Given the description of an element on the screen output the (x, y) to click on. 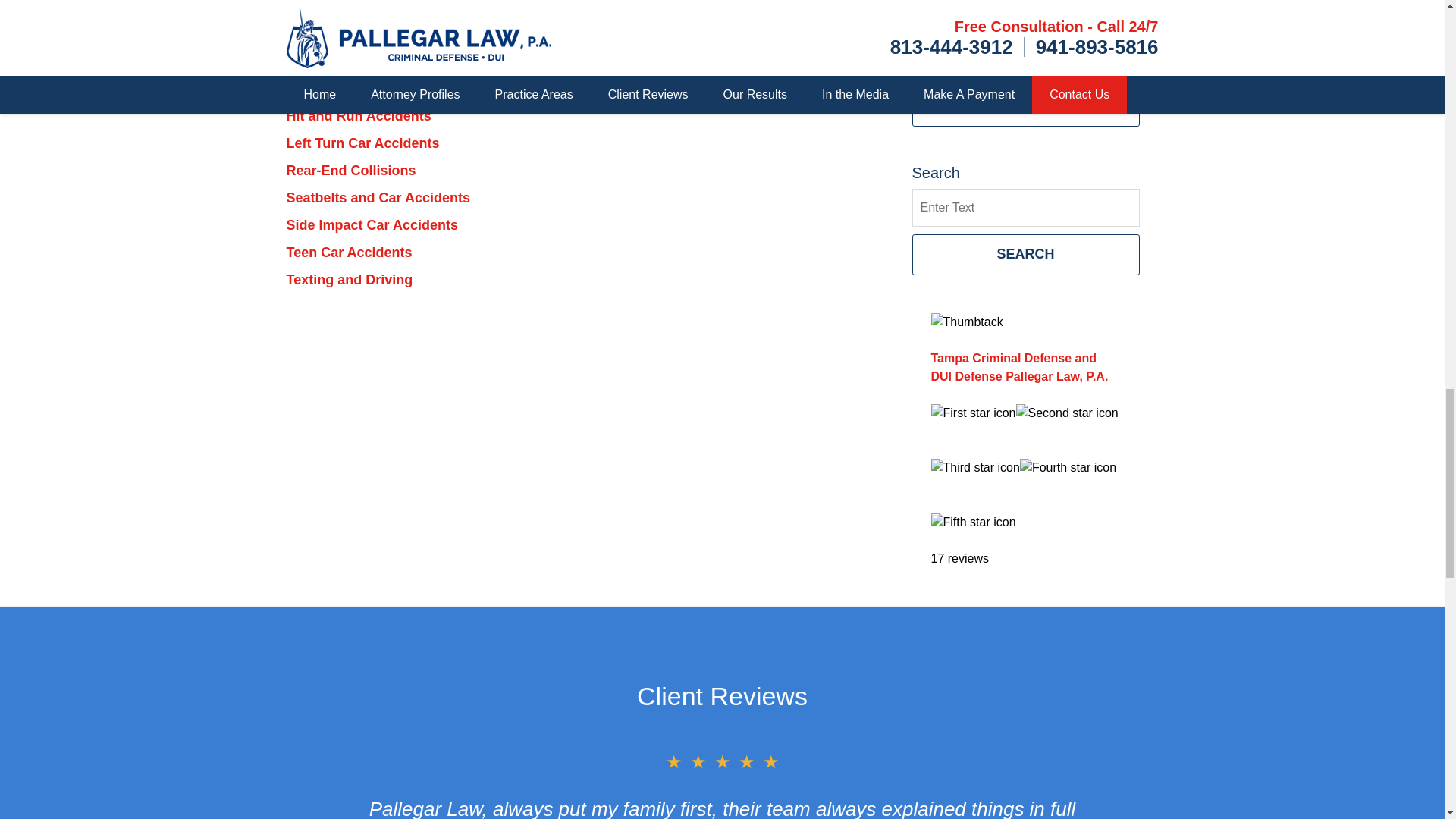
Left Turn Car Accidents (362, 142)
Texting and Driving (349, 279)
Call (298, 54)
Teen Car Accidents (349, 252)
Hit and Run Accidents (358, 115)
Side Impact Car Accidents (372, 224)
Search (1024, 207)
Rear-End Collisions (351, 170)
Seatbelts and Car Accidents (378, 197)
